Given the description of an element on the screen output the (x, y) to click on. 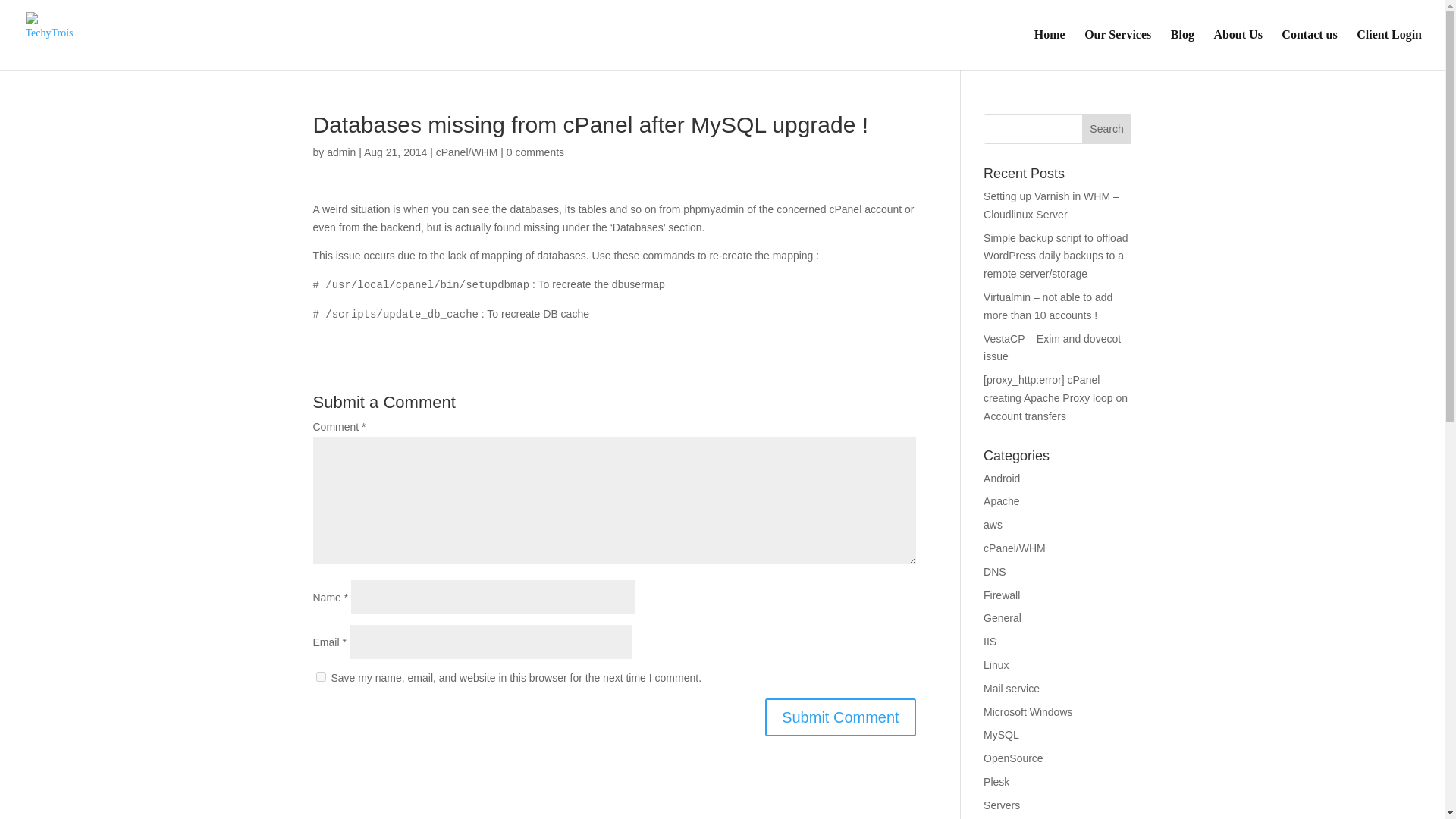
Mail service (1011, 688)
Plesk (996, 781)
Contact us (1308, 49)
Linux (996, 664)
MySQL (1001, 734)
Submit Comment (840, 717)
Firewall (1002, 594)
Apache (1001, 500)
admin (340, 152)
DNS (995, 571)
Home (1049, 49)
About Us (1237, 49)
Our Services (1117, 49)
Search (1106, 128)
Search (1106, 128)
